Given the description of an element on the screen output the (x, y) to click on. 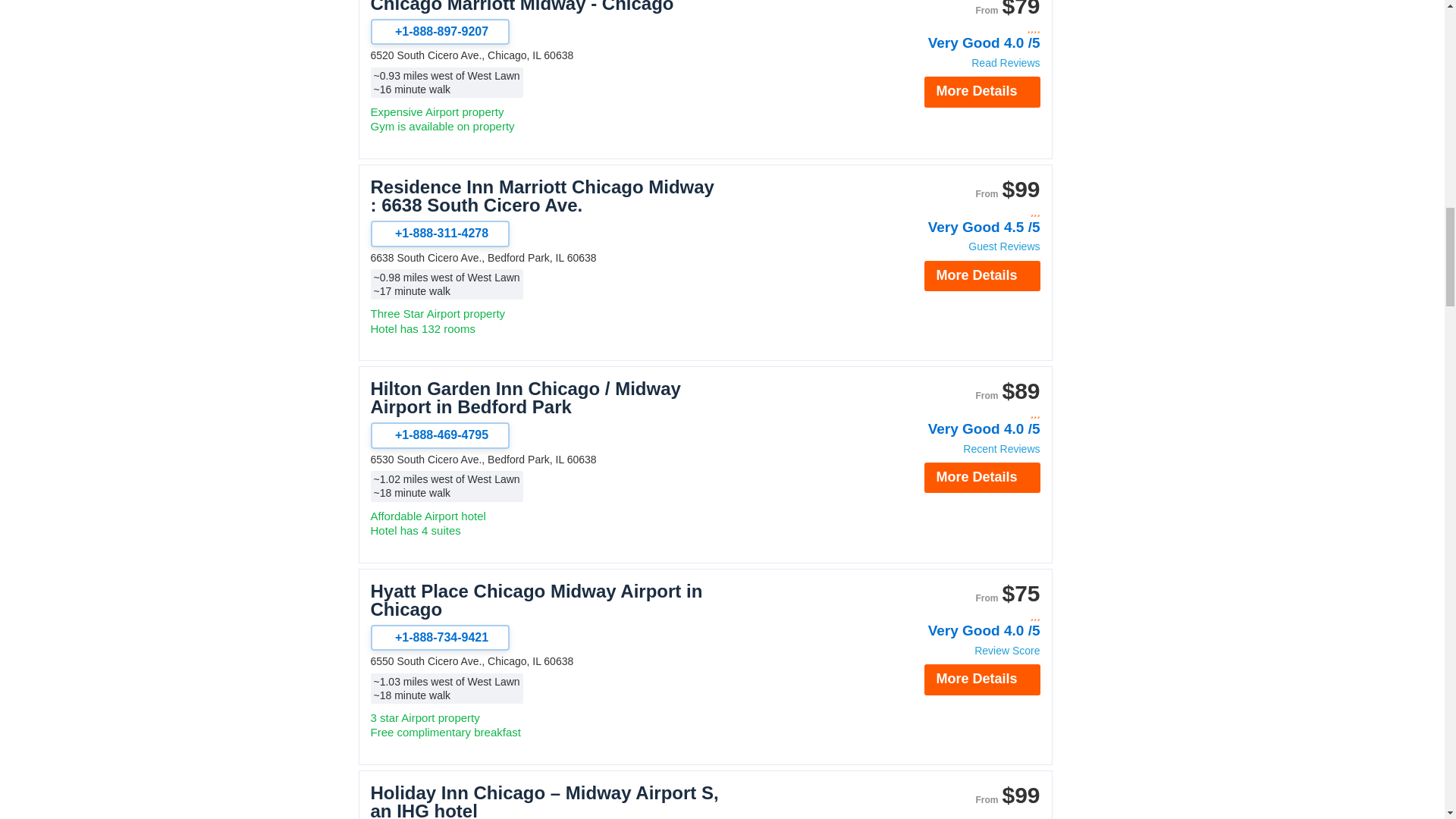
3 stars (958, 413)
3 stars (958, 211)
4 stars (958, 28)
3 stars (958, 815)
3 stars (958, 615)
